Given the description of an element on the screen output the (x, y) to click on. 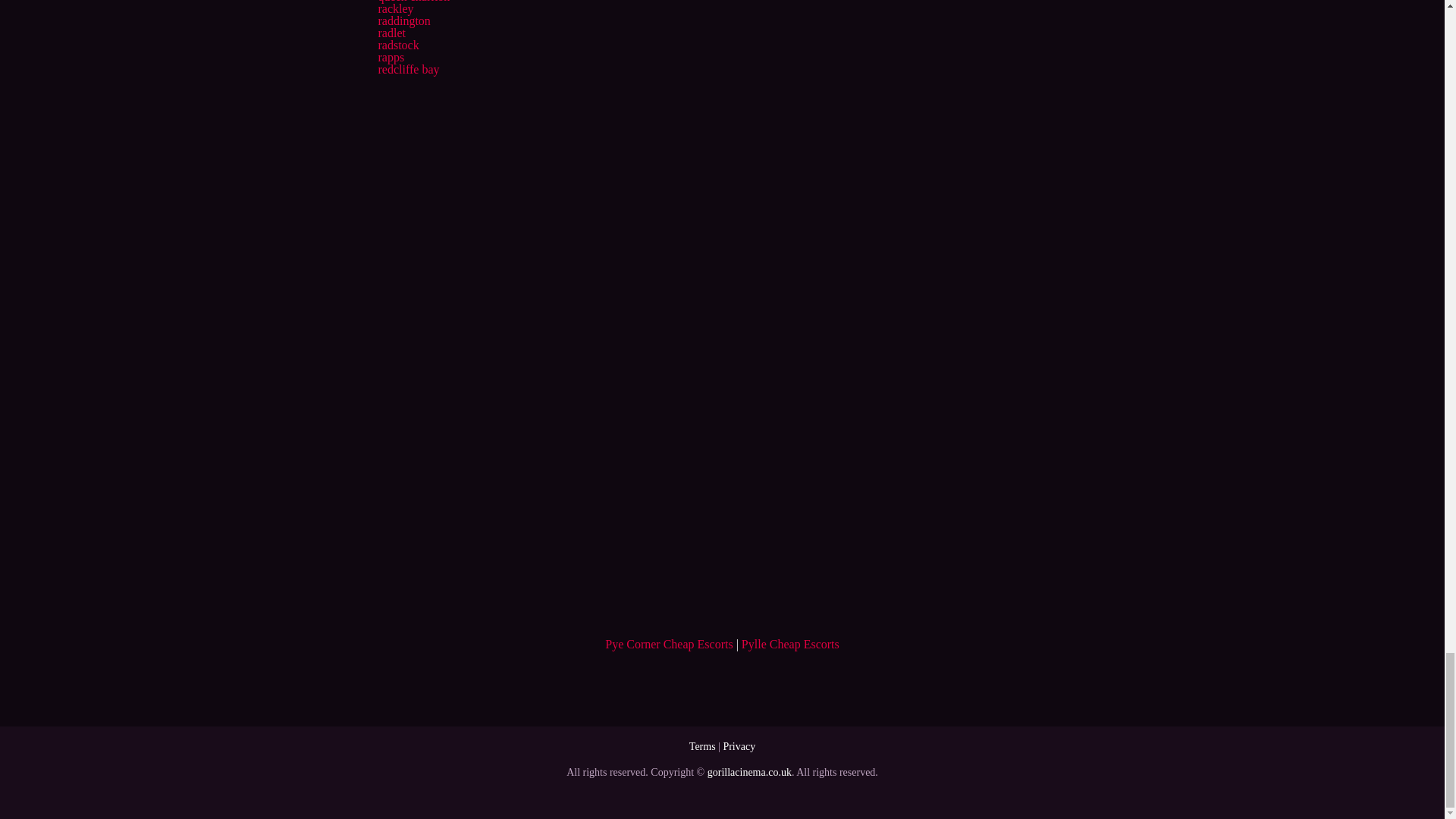
Terms (702, 746)
Terms (702, 746)
Pylle Cheap Escorts (790, 644)
Privacy (738, 746)
Pye Corner Cheap Escorts (668, 644)
Privacy (738, 746)
raddington (403, 20)
redcliffe bay (408, 69)
queen charlton (413, 1)
radlet (390, 32)
